Given the description of an element on the screen output the (x, y) to click on. 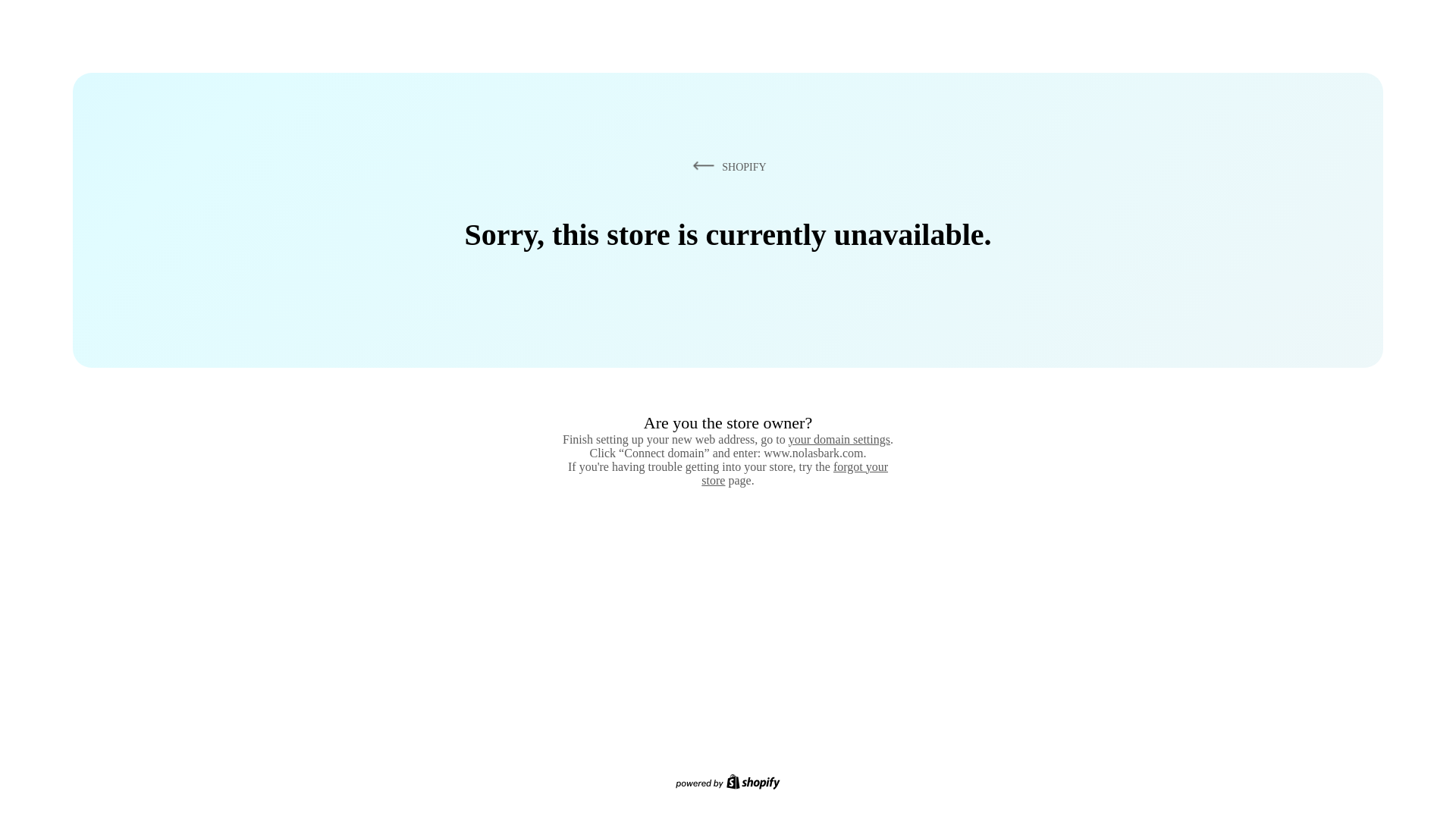
forgot your store (794, 473)
your domain settings (839, 439)
SHOPIFY (726, 166)
